Given the description of an element on the screen output the (x, y) to click on. 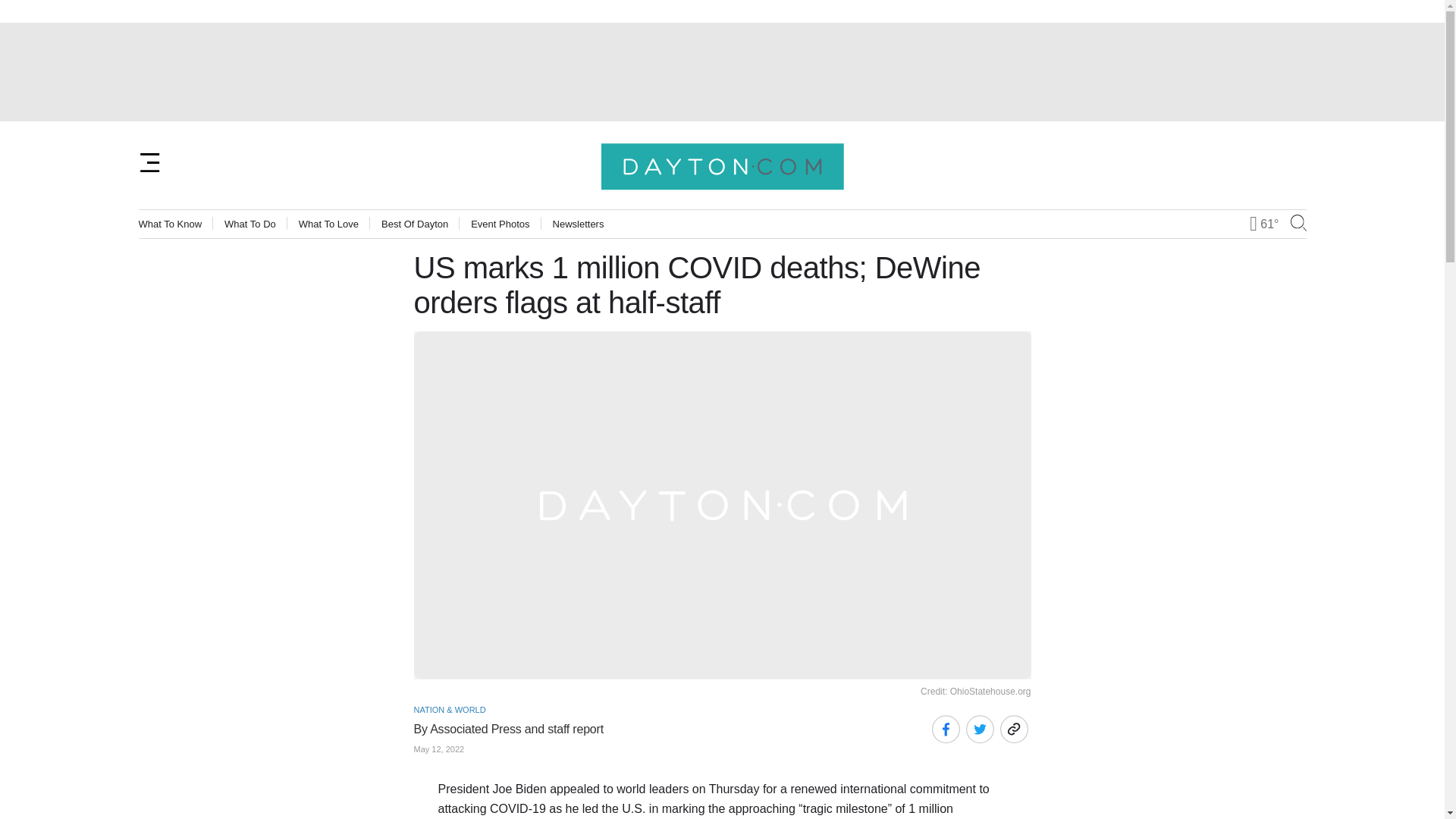
Event Photos (499, 224)
Newsletters (578, 224)
What To Know (170, 224)
Best Of Dayton (414, 224)
What To Do (250, 224)
What To Love (328, 224)
